Given the description of an element on the screen output the (x, y) to click on. 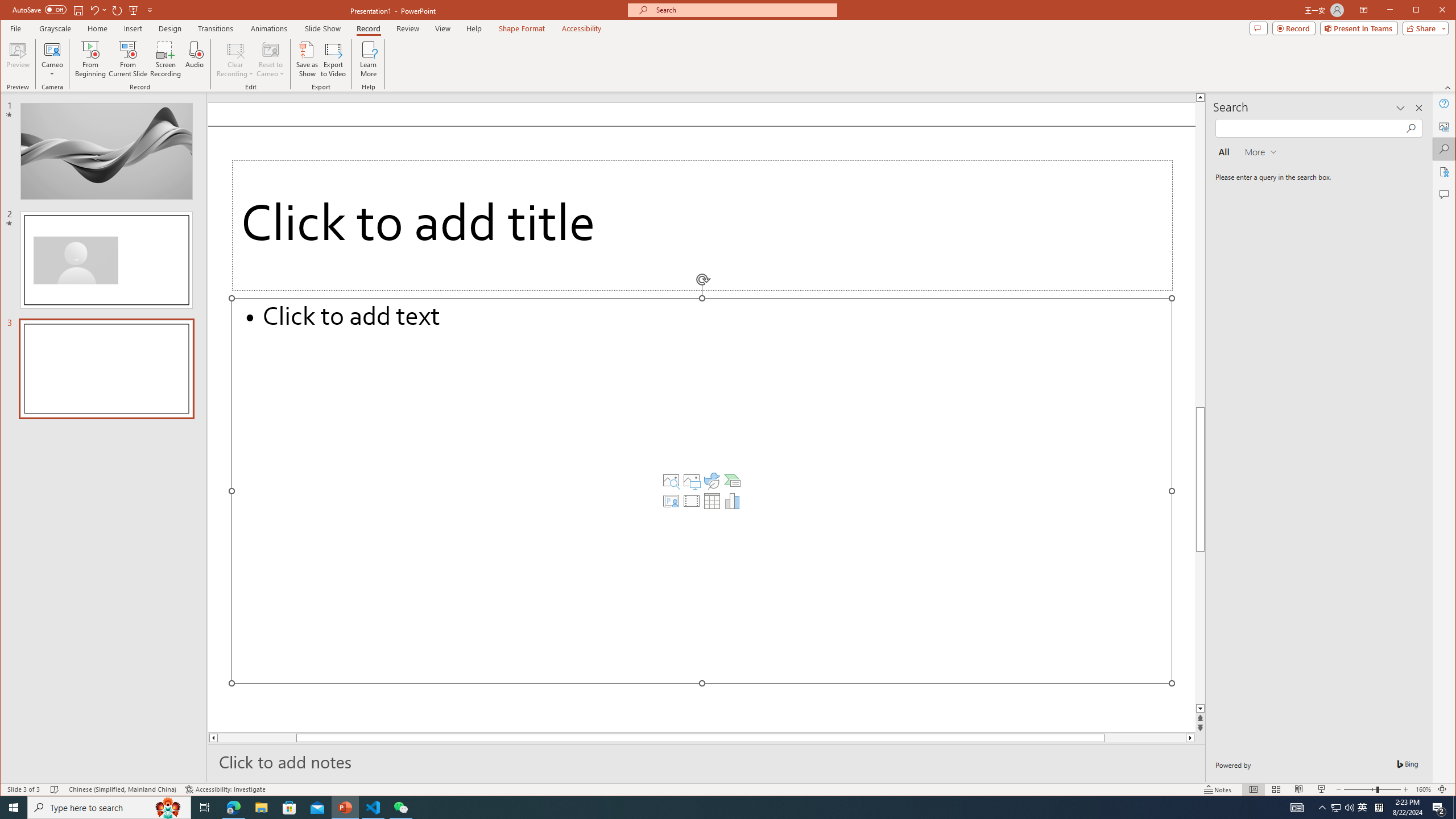
Shape Format (521, 28)
Maximize (1432, 11)
Insert Cameo (670, 501)
Clear Recording (234, 59)
Stock Images (670, 480)
Slide Notes (706, 761)
